Given the description of an element on the screen output the (x, y) to click on. 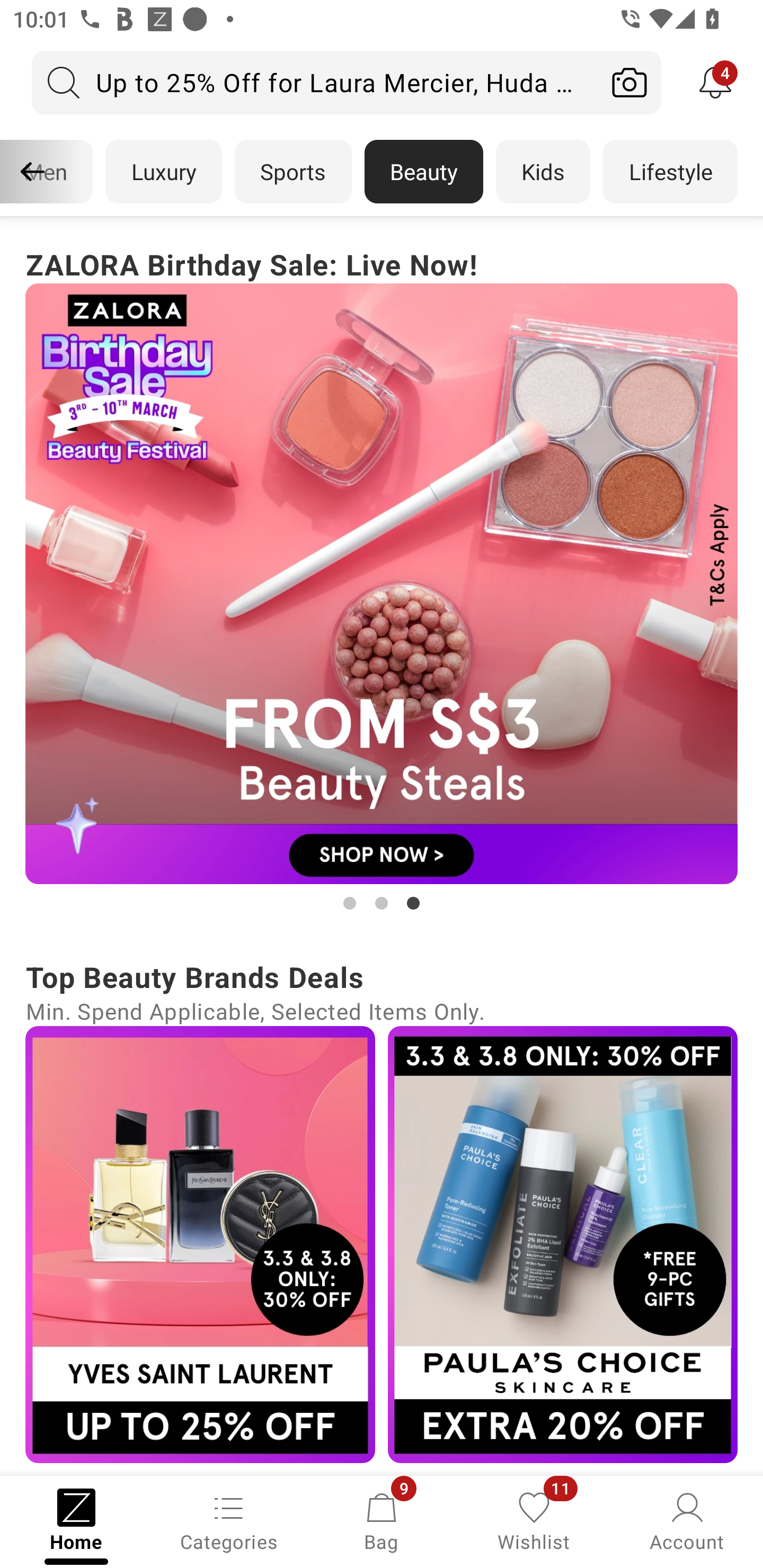
Men (46, 171)
Luxury (163, 171)
Sports (293, 171)
Beauty (423, 171)
Kids (542, 171)
Lifestyle (669, 171)
ZALORA Birthday Sale: Live Now!  Campaign banner (381, 578)
Campaign banner (381, 583)
Campaign banner (200, 1243)
Campaign banner (562, 1243)
Categories (228, 1519)
Bag, 9 new notifications Bag (381, 1519)
Wishlist, 11 new notifications Wishlist (533, 1519)
Account (686, 1519)
